Given the description of an element on the screen output the (x, y) to click on. 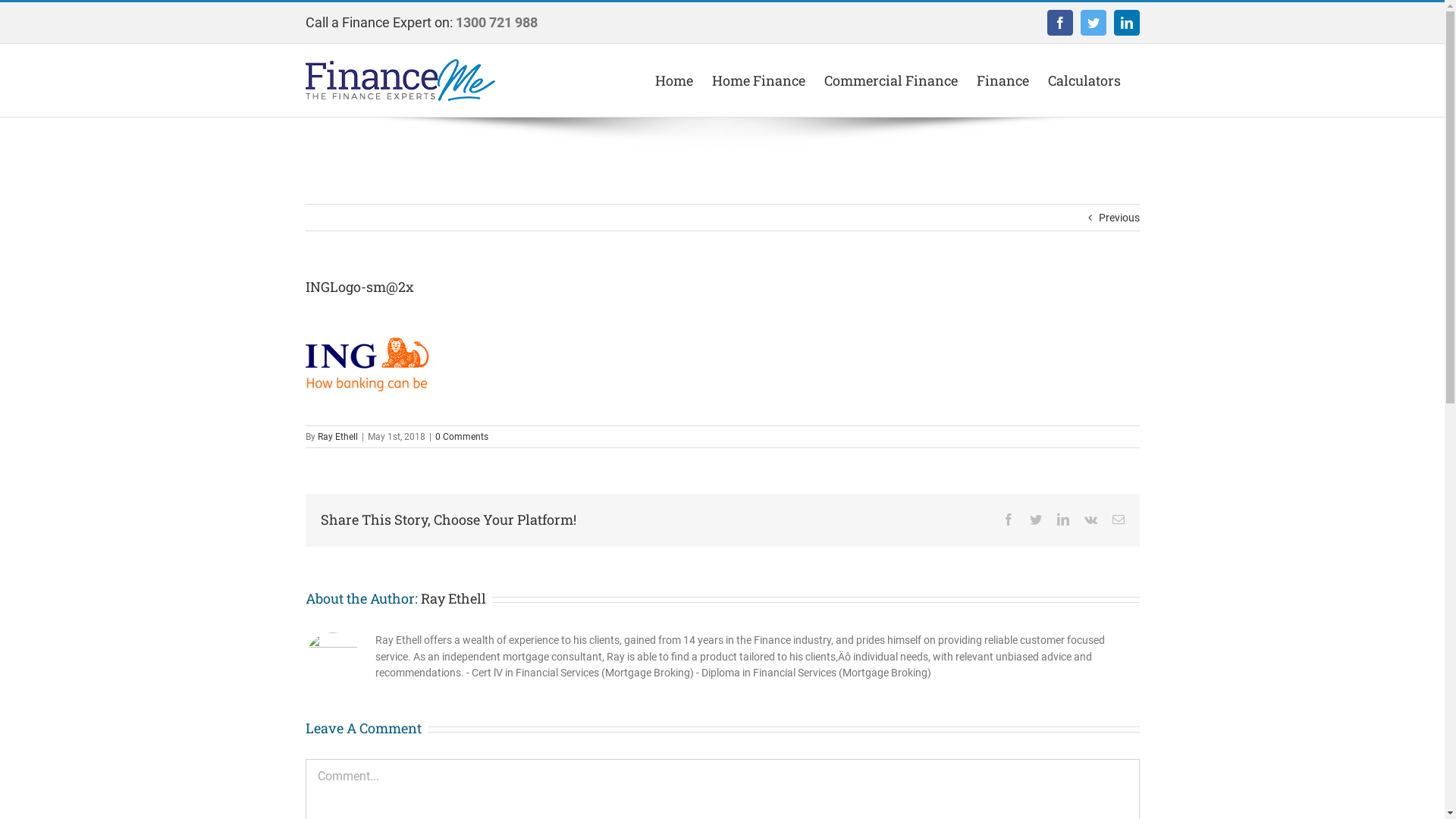
Home Element type: text (674, 79)
LinkedIn Element type: text (1063, 519)
Vk Element type: text (1090, 519)
Twitter Element type: text (1092, 22)
Facebook Element type: text (1008, 519)
Facebook Element type: text (1059, 22)
Home Finance Element type: text (757, 79)
LinkedIn Element type: text (1126, 22)
Commercial Finance Element type: text (890, 79)
Previous Element type: text (1118, 217)
Ray Ethell Element type: text (452, 598)
Calculators Element type: text (1084, 79)
Ray Ethell Element type: text (336, 436)
Email Element type: text (1117, 519)
Finance Element type: text (1002, 79)
0 Comments Element type: text (461, 436)
Twitter Element type: text (1035, 519)
